Given the description of an element on the screen output the (x, y) to click on. 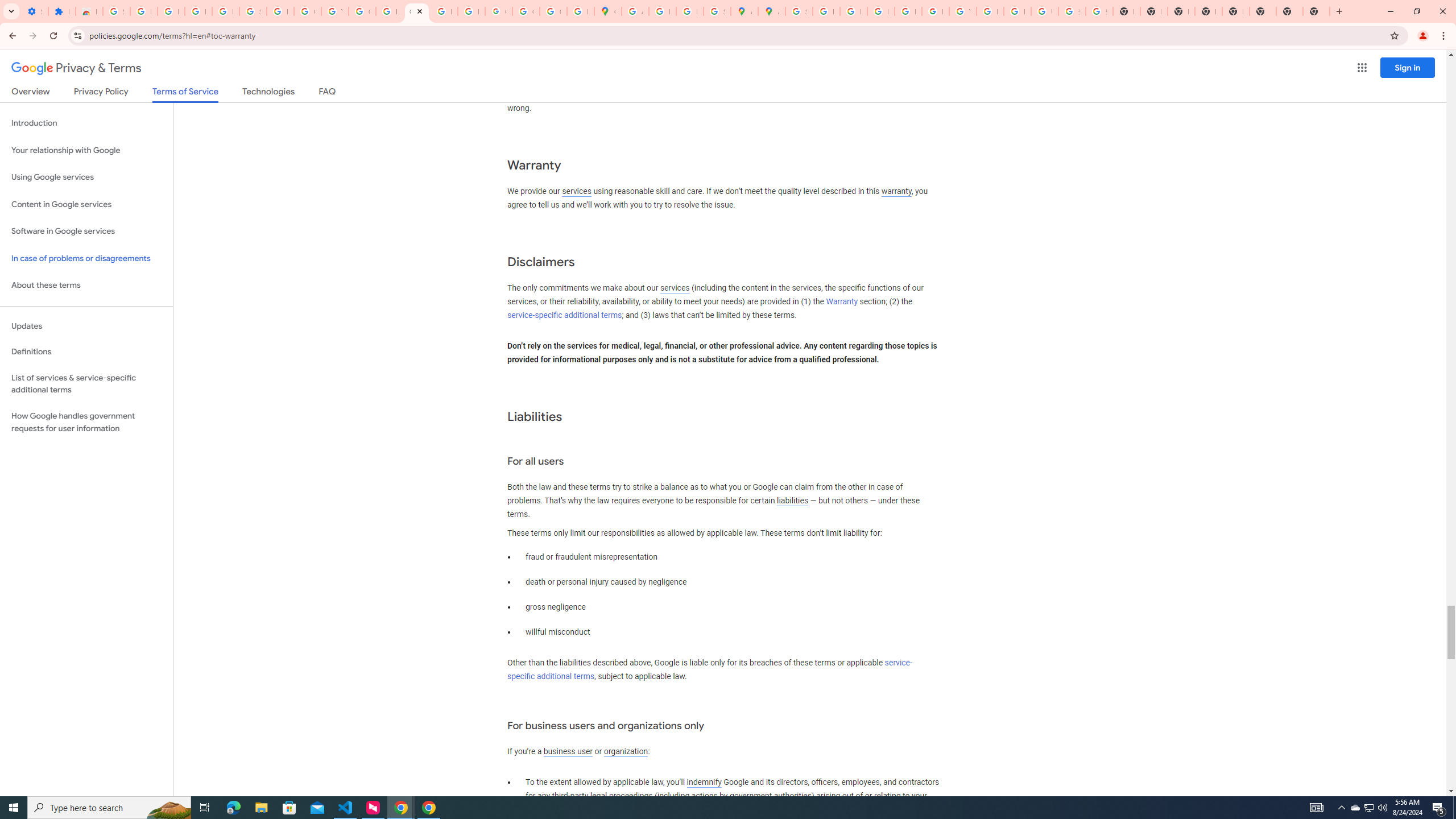
Content in Google services (86, 204)
Browse Chrome as a guest - Computer - Google Chrome Help (990, 11)
YouTube (334, 11)
business user (567, 751)
